Given the description of an element on the screen output the (x, y) to click on. 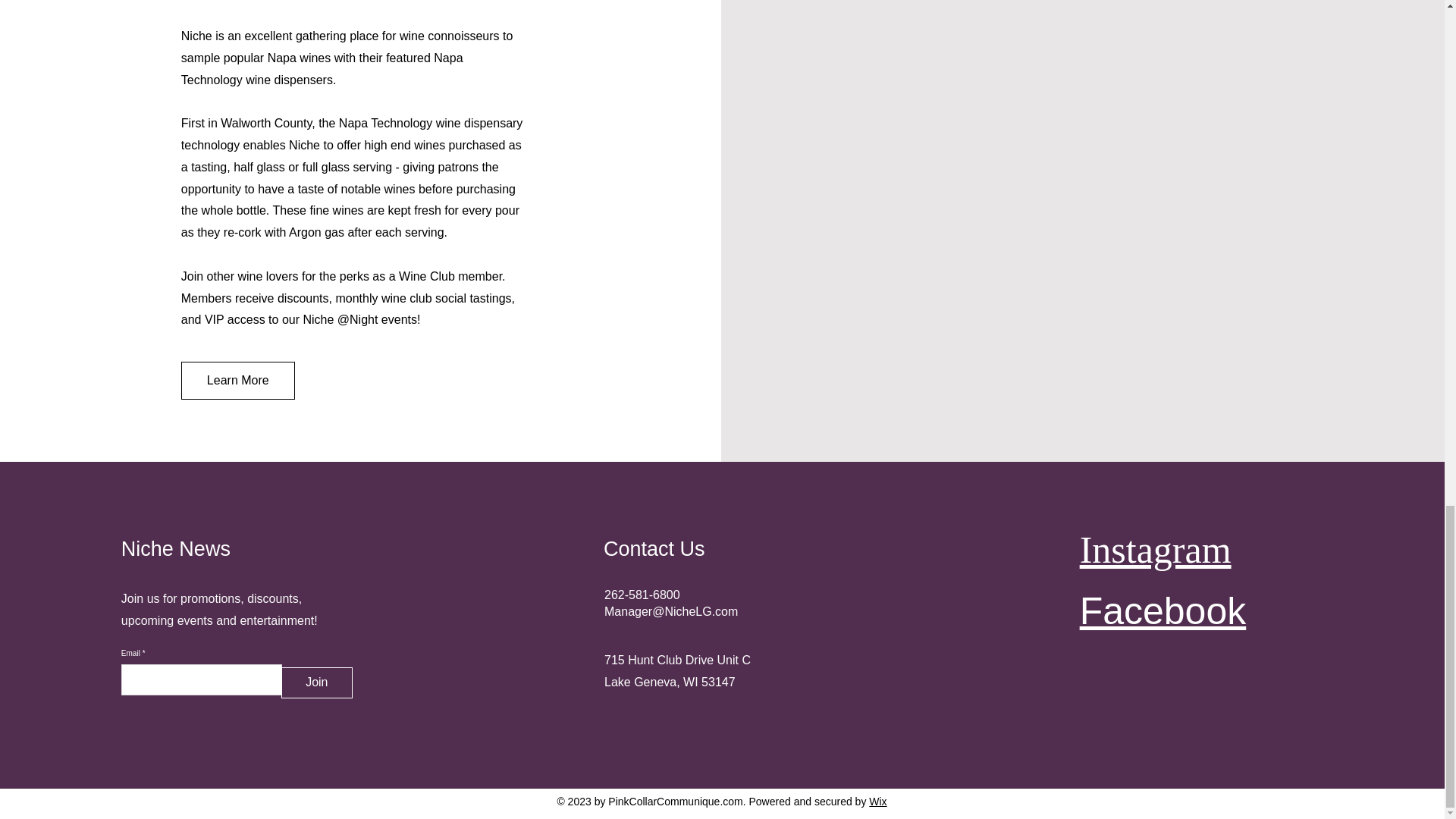
Wix (877, 801)
Learn More (237, 380)
Join (316, 682)
Facebook (1163, 610)
Instagram (1155, 549)
